Given the description of an element on the screen output the (x, y) to click on. 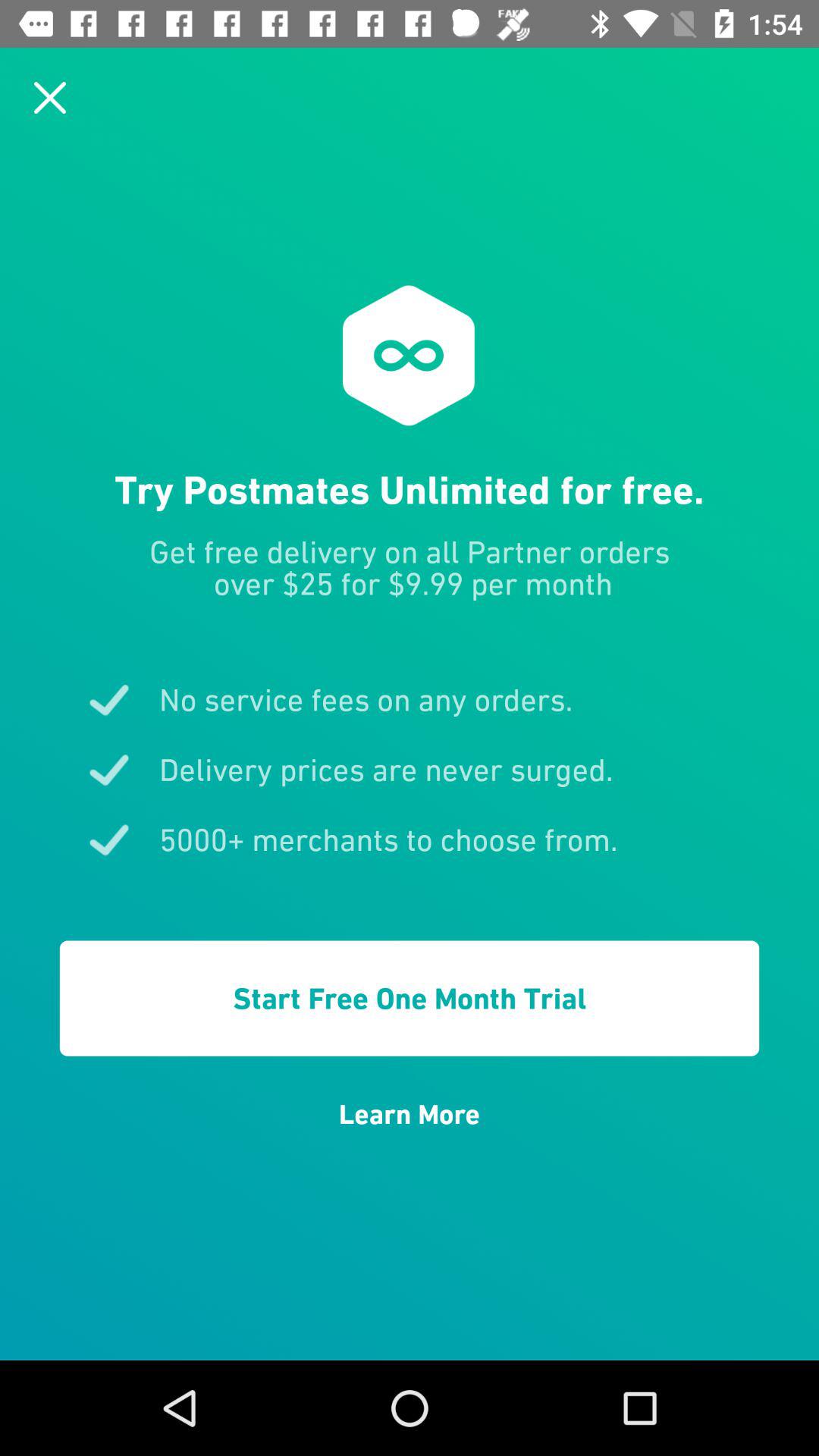
launch the icon above learn more (409, 998)
